Given the description of an element on the screen output the (x, y) to click on. 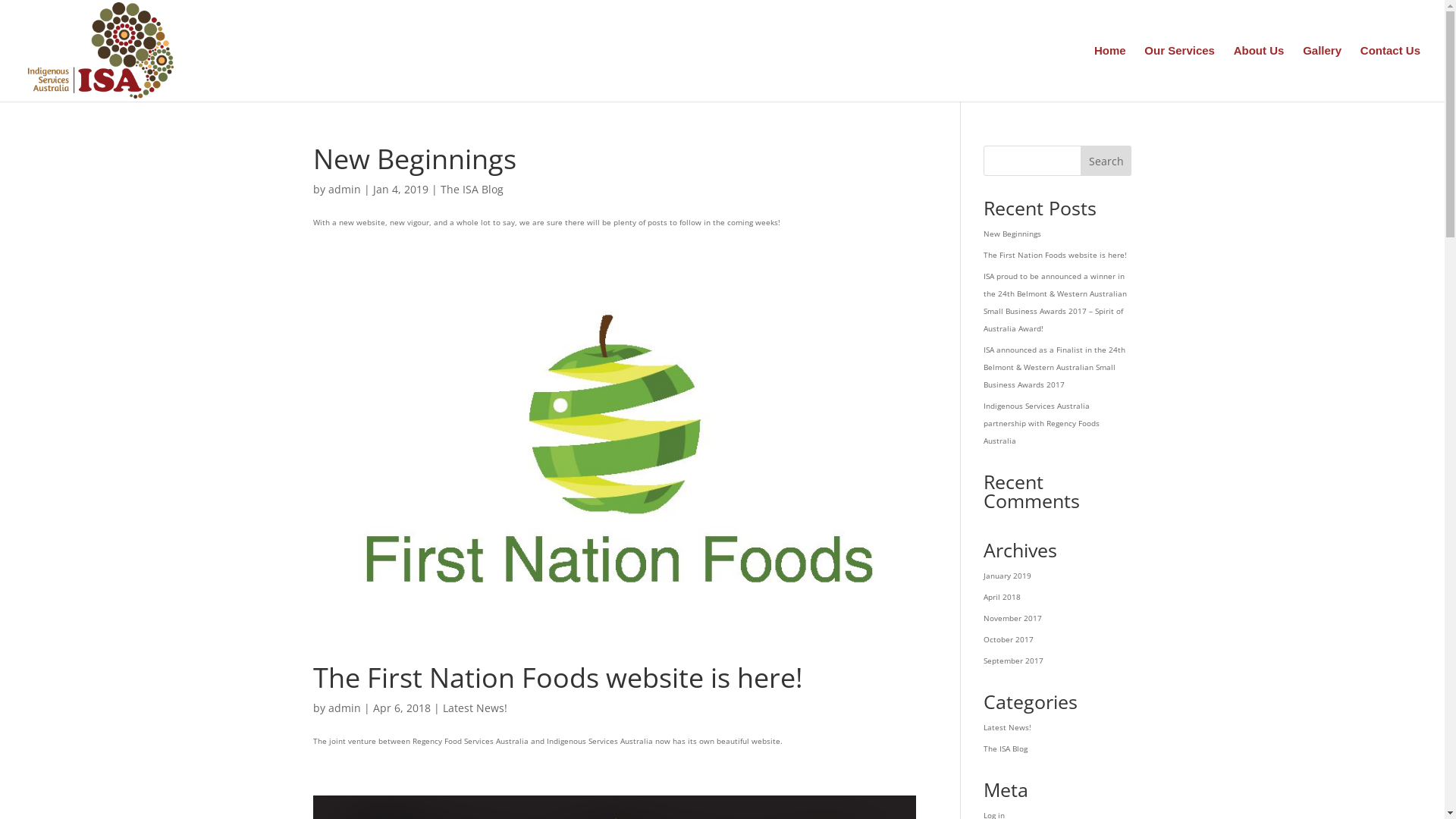
April 2018 Element type: text (1001, 596)
Search Element type: text (1106, 160)
admin Element type: text (343, 189)
The First Nation Foods website is here! Element type: text (557, 677)
Latest News! Element type: text (1007, 726)
New Beginnings Element type: text (1012, 233)
Latest News! Element type: text (474, 707)
The ISA Blog Element type: text (470, 189)
New Beginnings Element type: text (413, 158)
Contact Us Element type: text (1390, 73)
The ISA Blog Element type: text (1005, 748)
Home Element type: text (1110, 73)
September 2017 Element type: text (1013, 660)
January 2019 Element type: text (1007, 575)
admin Element type: text (343, 707)
Gallery Element type: text (1321, 73)
November 2017 Element type: text (1012, 617)
October 2017 Element type: text (1008, 638)
The First Nation Foods website is here! Element type: text (1054, 254)
About Us Element type: text (1258, 73)
Our Services Element type: text (1179, 73)
